Given the description of an element on the screen output the (x, y) to click on. 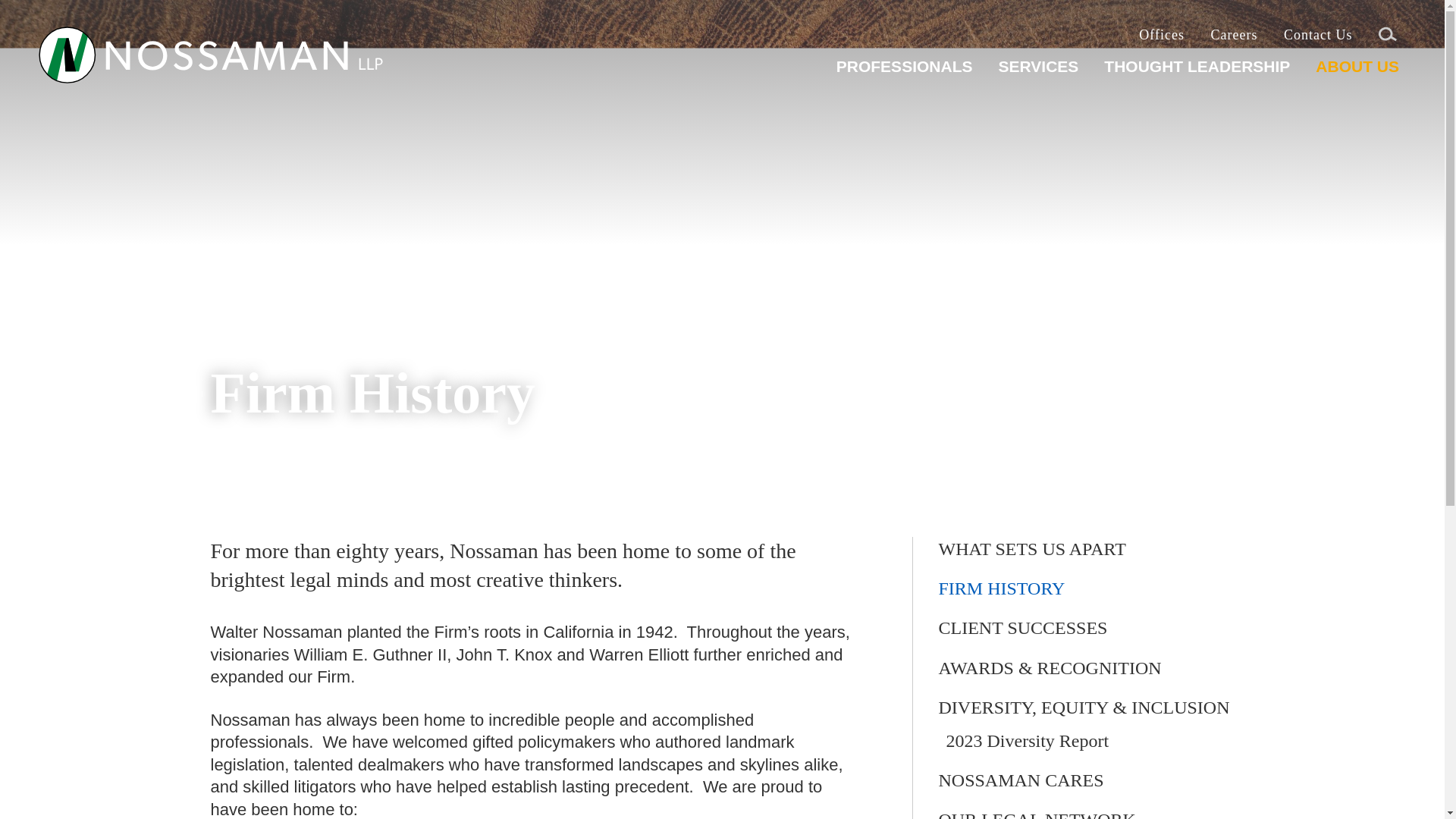
NOSSAMAN CARES (1021, 780)
2023 Diversity Report (1027, 741)
OUR LEGAL NETWORK (1037, 814)
CLIENT SUCCESSES (1023, 628)
SERVICES (1037, 72)
WHAT SETS US APART (1032, 548)
PROFESSIONALS (904, 72)
FIRM HISTORY (1002, 588)
